Given the description of an element on the screen output the (x, y) to click on. 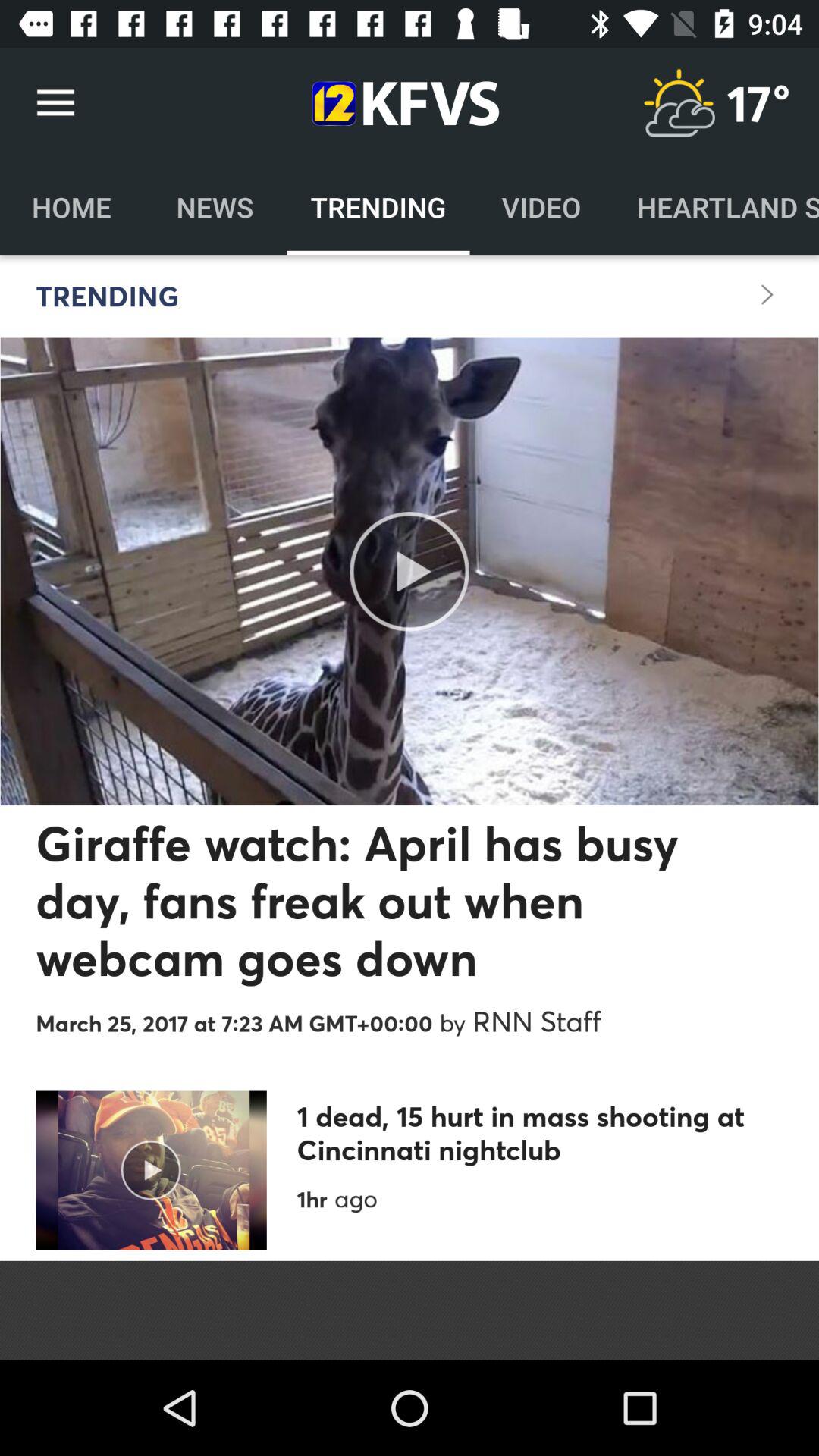
check weather (678, 103)
